Given the description of an element on the screen output the (x, y) to click on. 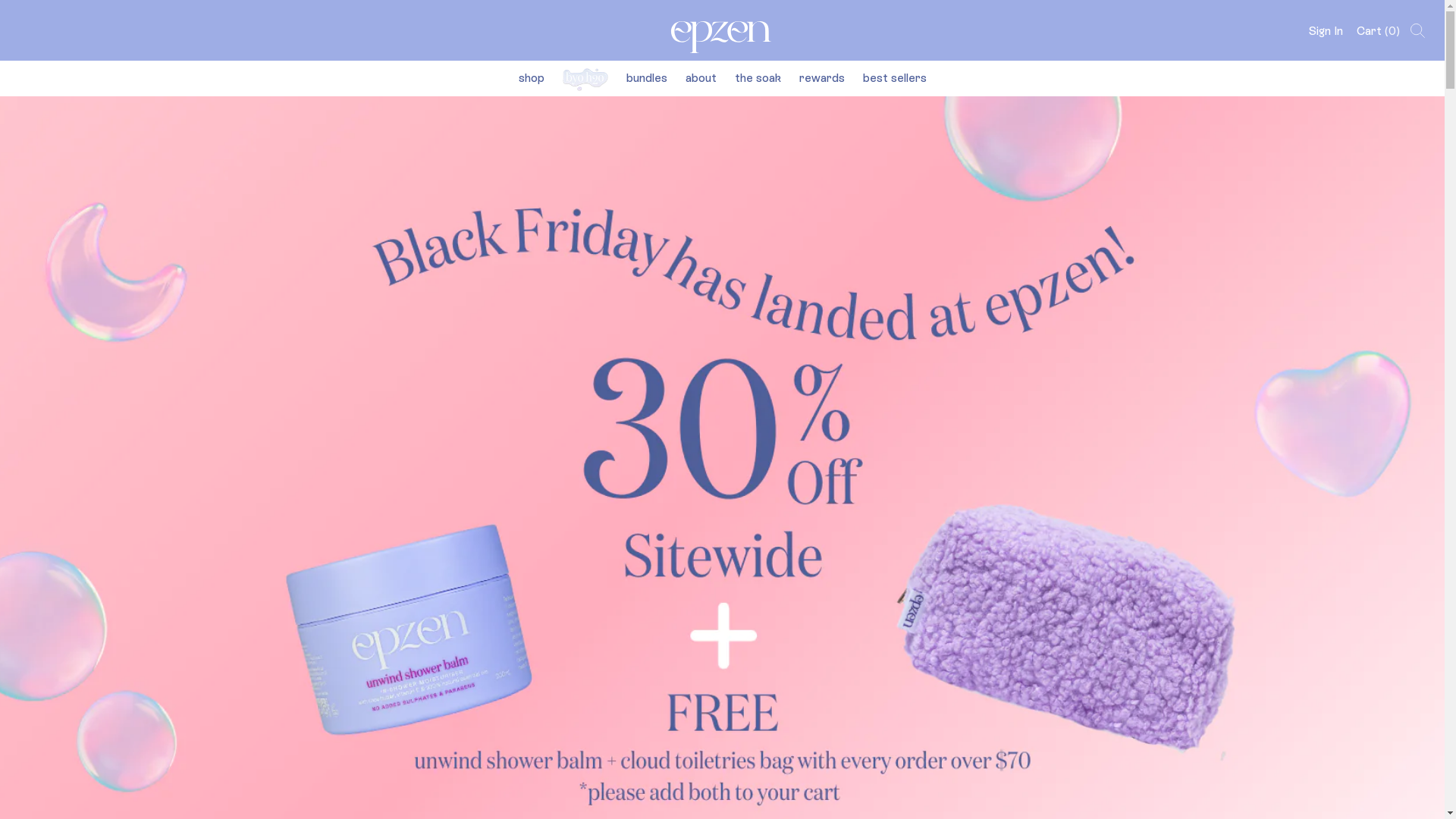
rewards Element type: text (821, 77)
best sellers Element type: text (894, 77)
the soak Element type: text (757, 77)
shop Element type: text (531, 77)
Epzen Australia Element type: hover (721, 30)
Sign In Element type: text (1325, 30)
bundles Element type: text (646, 77)
Cart
(0) Element type: text (1377, 30)
about Element type: text (700, 77)
